Given the description of an element on the screen output the (x, y) to click on. 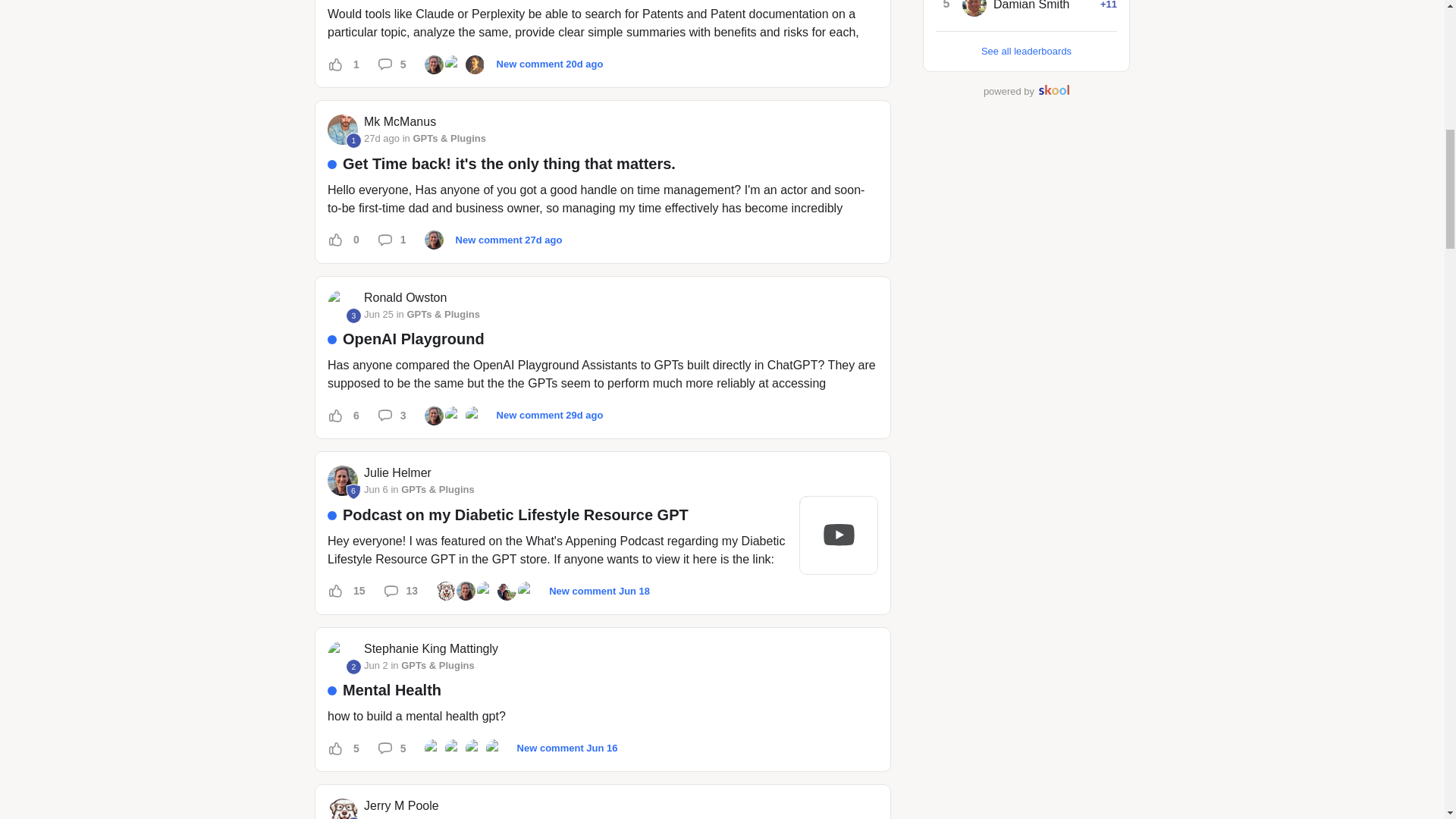
1 (353, 140)
Erik Lagace (454, 63)
3 (353, 315)
Julie Helmer (434, 63)
